Given the description of an element on the screen output the (x, y) to click on. 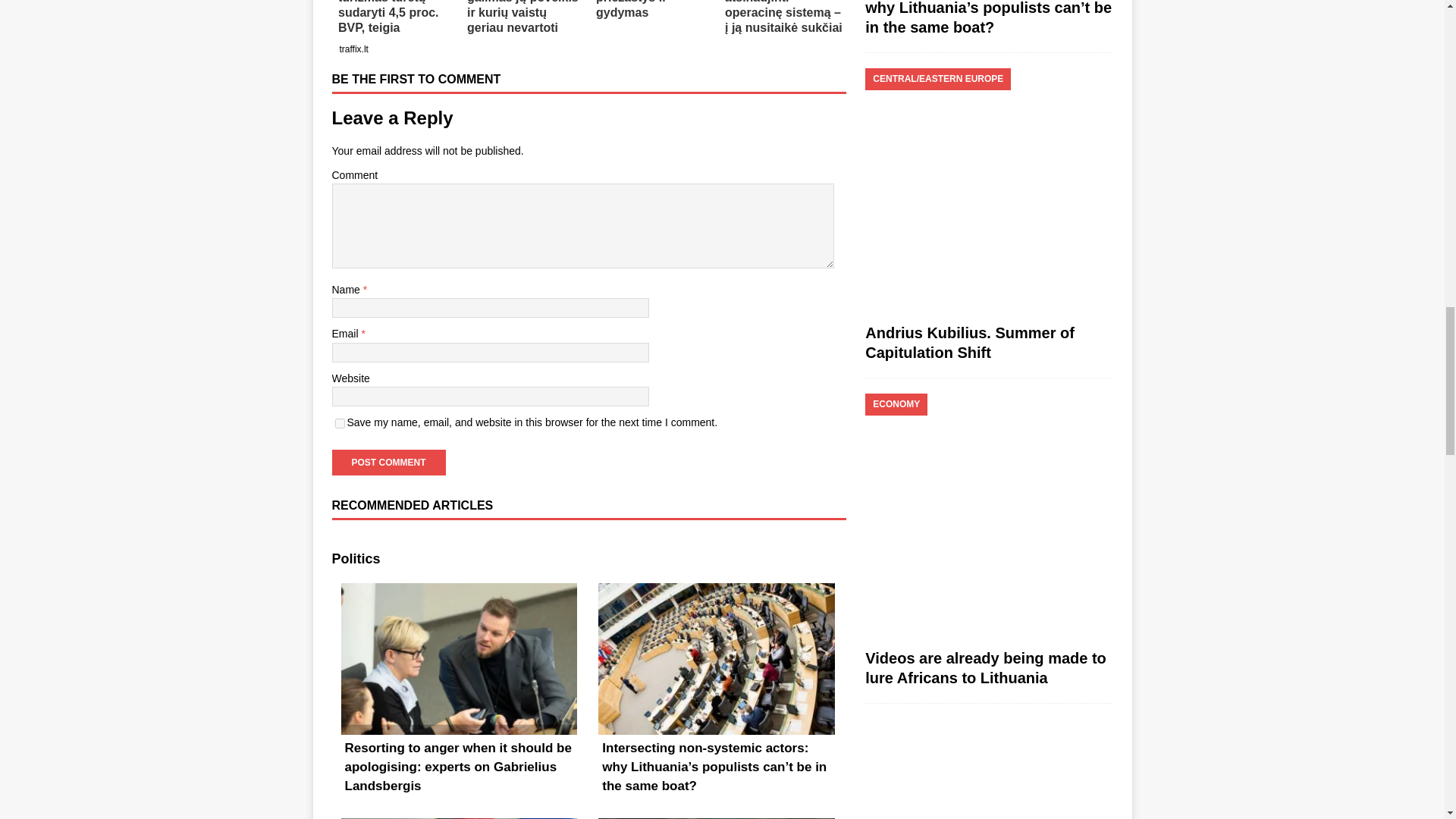
Post Comment (388, 462)
yes (339, 423)
